Given the description of an element on the screen output the (x, y) to click on. 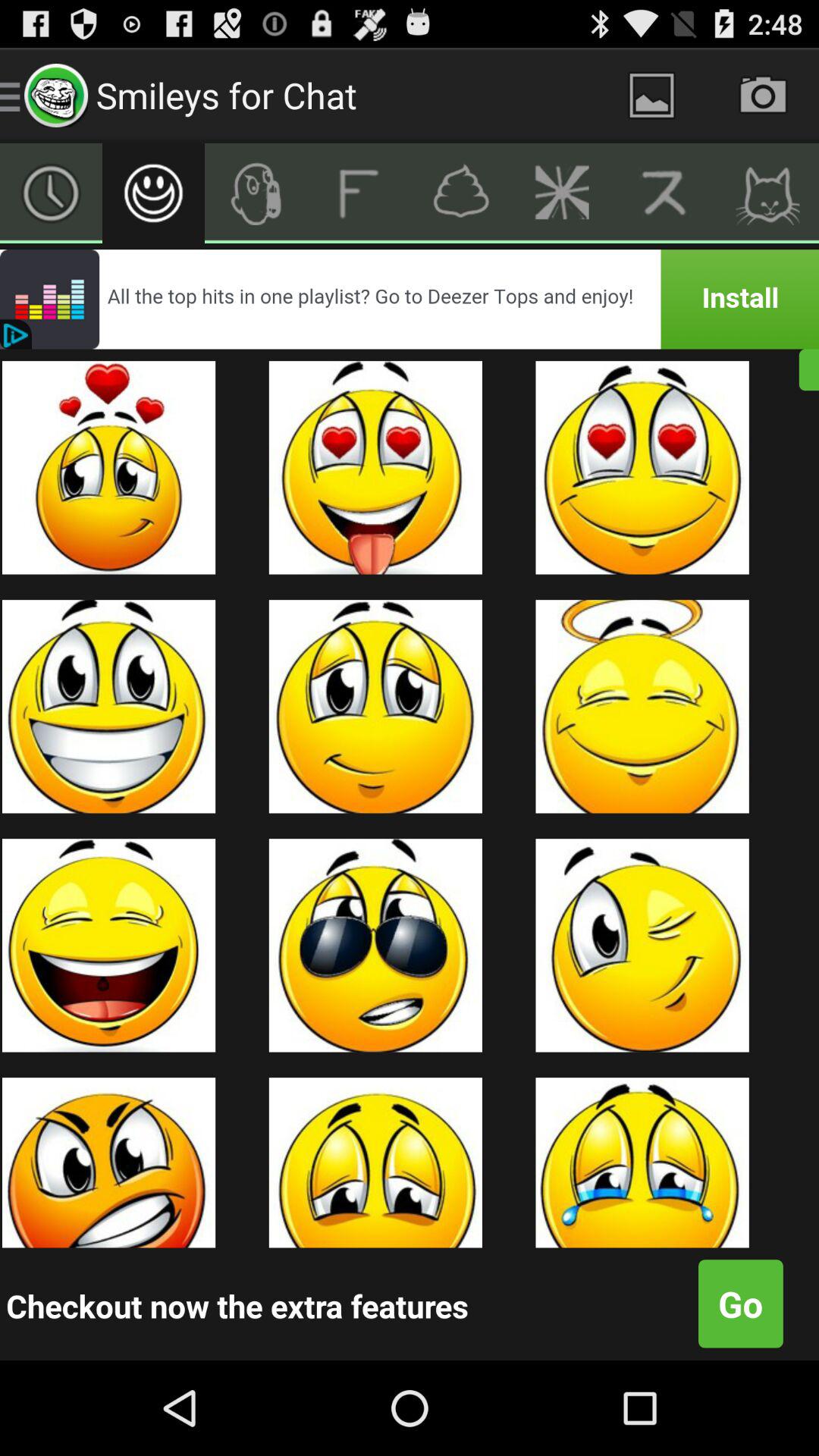
utilizar elementos usados recentemente (51, 193)
